Given the description of an element on the screen output the (x, y) to click on. 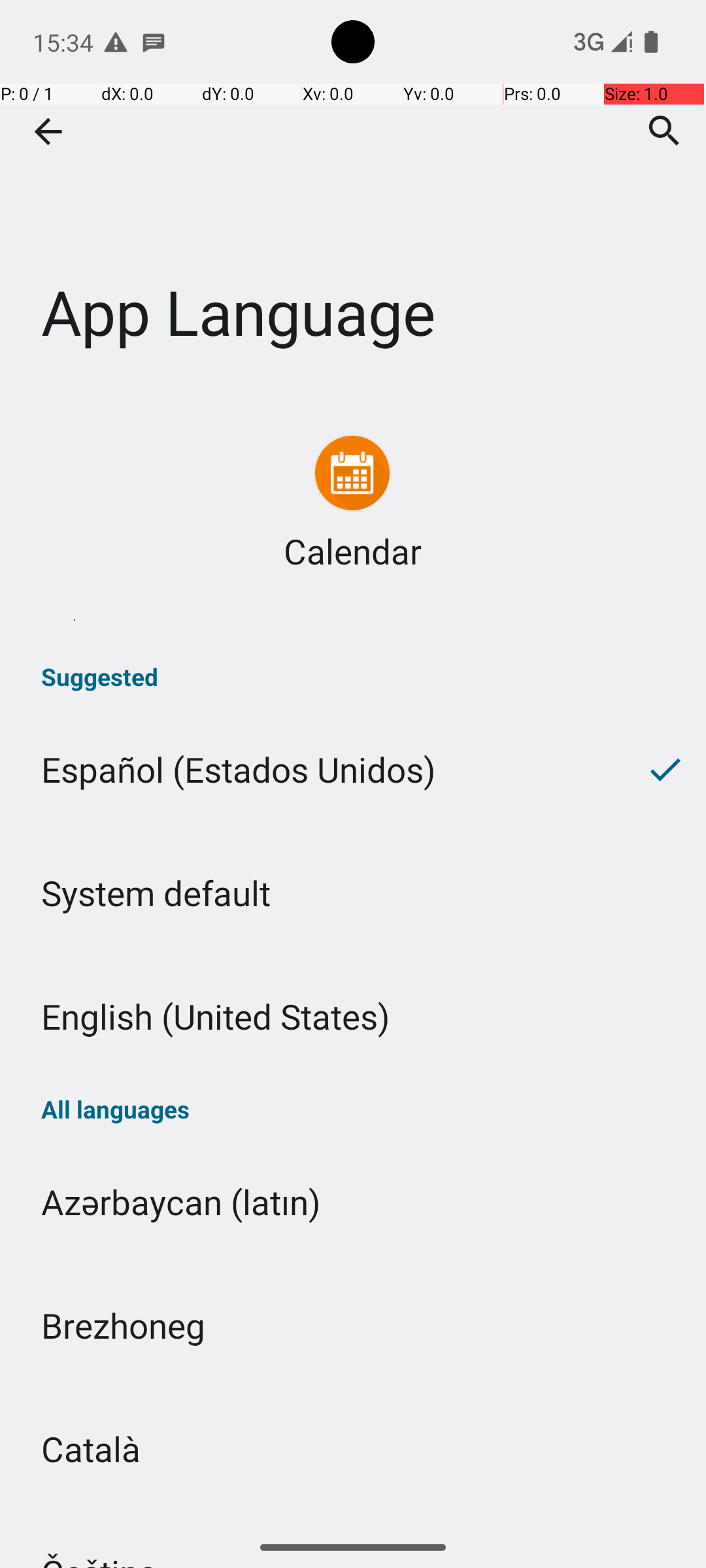
App Language Element type: android.widget.FrameLayout (353, 195)
Suggested Element type: android.widget.TextView (353, 676)
System default Element type: android.widget.TextView (353, 892)
English (United States) Element type: android.widget.TextView (353, 1016)
All languages Element type: android.widget.TextView (353, 1109)
Azərbaycan (latın) Element type: android.widget.TextView (353, 1201)
Brezhoneg Element type: android.widget.TextView (353, 1325)
Català Element type: android.widget.TextView (353, 1448)
Čeština Element type: android.widget.TextView (353, 1518)
Español (Estados Unidos) Element type: android.widget.TextView (312, 769)
